Given the description of an element on the screen output the (x, y) to click on. 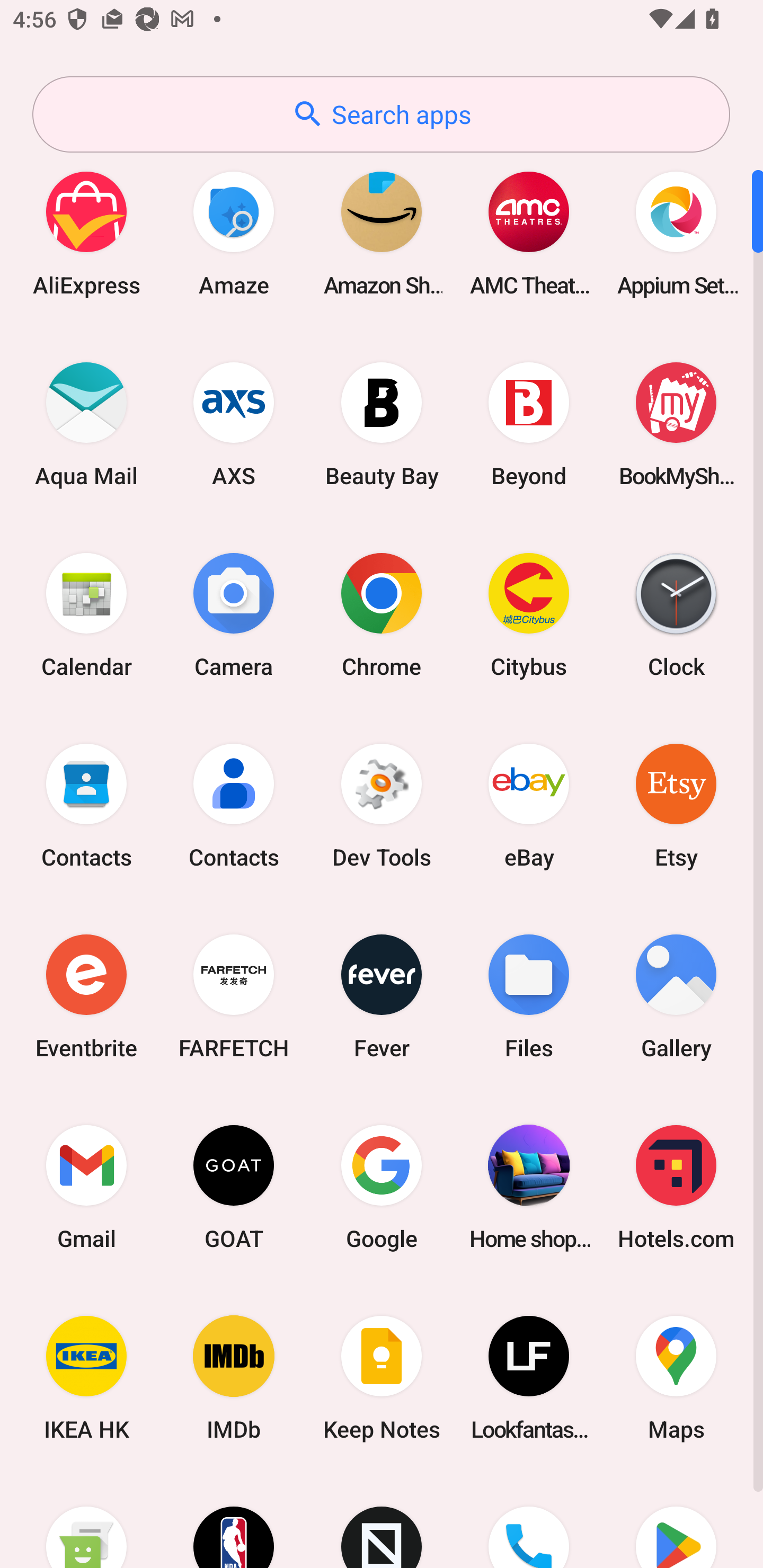
  Search apps (381, 114)
AliExpress (86, 233)
Amaze (233, 233)
Amazon Shopping (381, 233)
AMC Theatres (528, 233)
Appium Settings (676, 233)
Aqua Mail (86, 424)
AXS (233, 424)
Beauty Bay (381, 424)
Beyond (528, 424)
BookMyShow (676, 424)
Calendar (86, 614)
Camera (233, 614)
Chrome (381, 614)
Citybus (528, 614)
Clock (676, 614)
Contacts (86, 805)
Contacts (233, 805)
Dev Tools (381, 805)
eBay (528, 805)
Etsy (676, 805)
Eventbrite (86, 996)
FARFETCH (233, 996)
Fever (381, 996)
Files (528, 996)
Gallery (676, 996)
Gmail (86, 1186)
GOAT (233, 1186)
Google (381, 1186)
Home shopping (528, 1186)
Hotels.com (676, 1186)
IKEA HK (86, 1377)
IMDb (233, 1377)
Keep Notes (381, 1377)
Lookfantastic (528, 1377)
Maps (676, 1377)
Messaging (86, 1520)
NBA (233, 1520)
Novelship (381, 1520)
Phone (528, 1520)
Play Store (676, 1520)
